Given the description of an element on the screen output the (x, y) to click on. 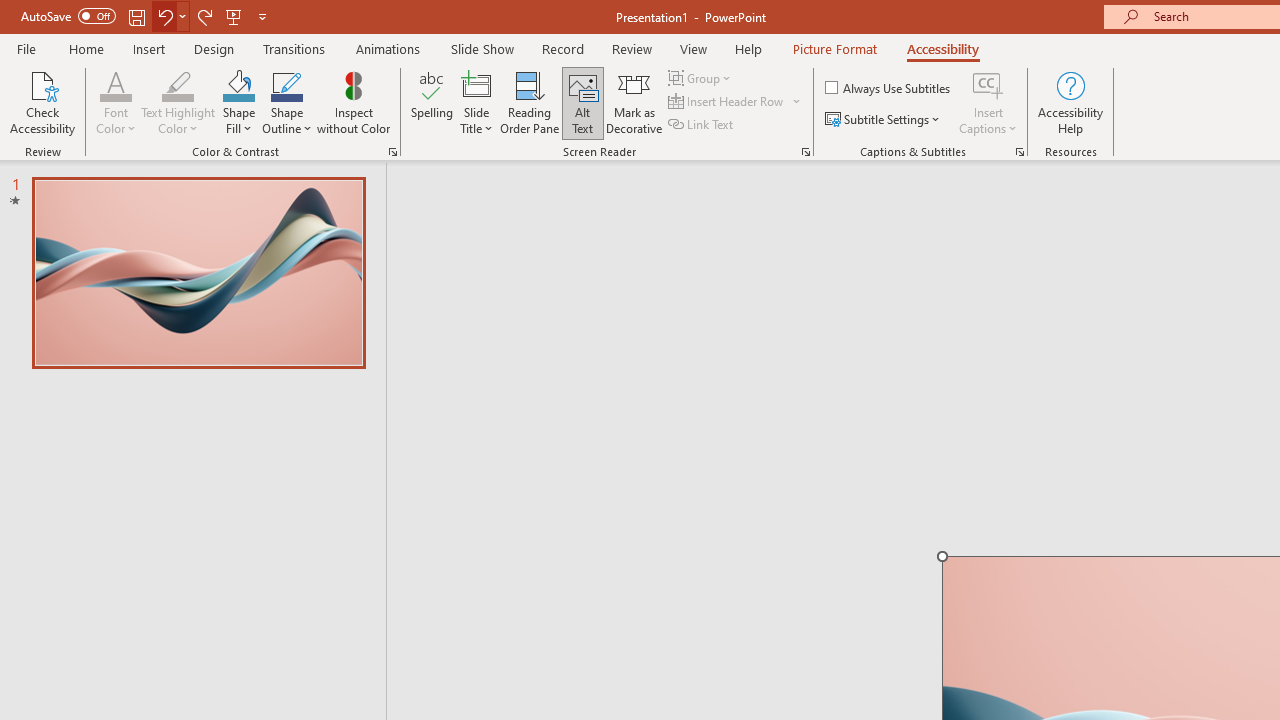
Mark as Decorative (634, 102)
Screen Reader (805, 151)
Inspect without Color (353, 102)
